Given the description of an element on the screen output the (x, y) to click on. 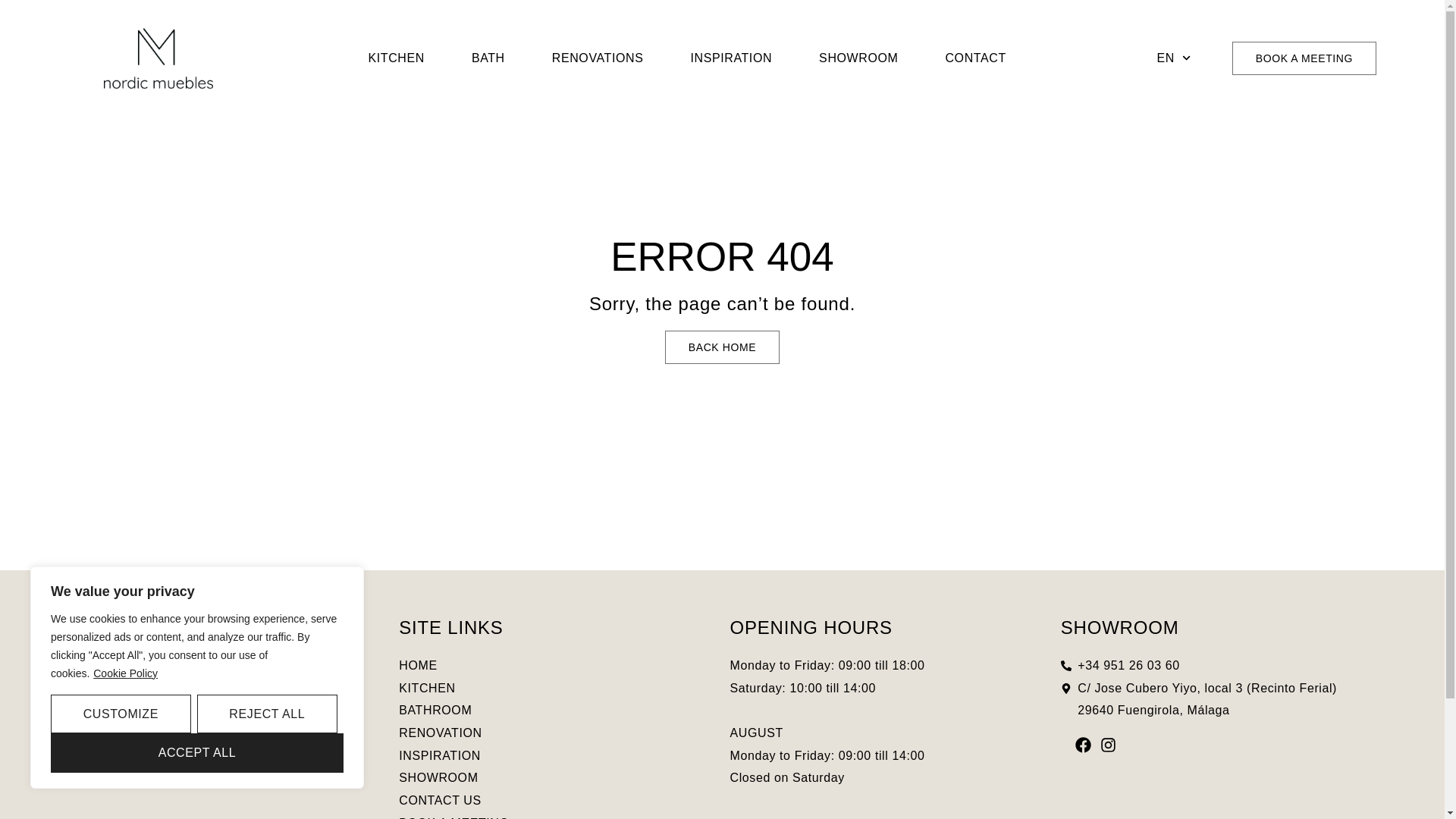
REJECT ALL (266, 713)
CUSTOMIZE (120, 713)
BATH (488, 57)
CONTACT (975, 57)
KITCHEN (394, 57)
EN (1174, 57)
Cookie Policy (125, 673)
SHOWROOM (857, 57)
INSPIRATION (730, 57)
BOOK A MEETING (1303, 58)
